Given the description of an element on the screen output the (x, y) to click on. 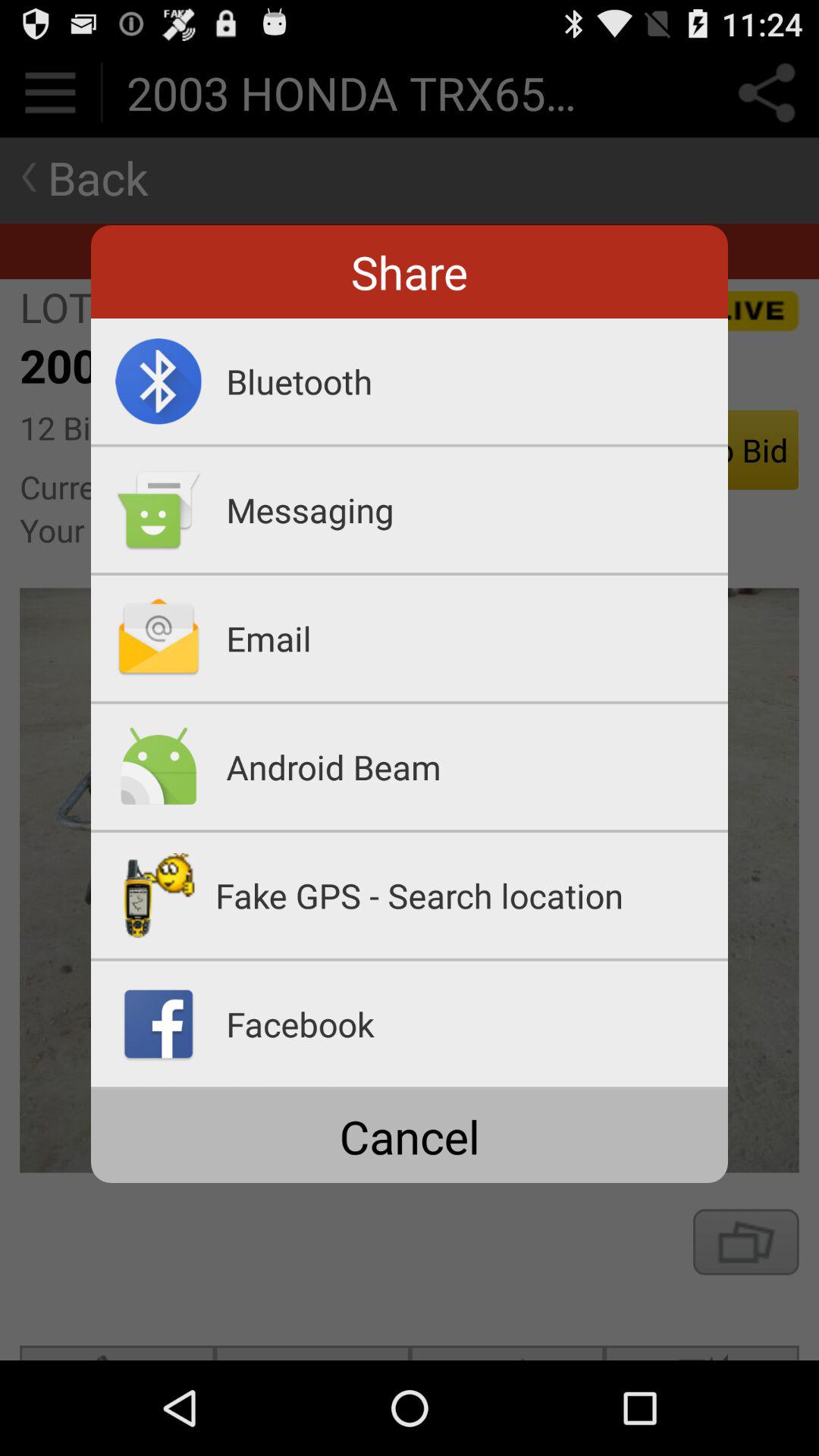
swipe until the facebook item (477, 1023)
